Given the description of an element on the screen output the (x, y) to click on. 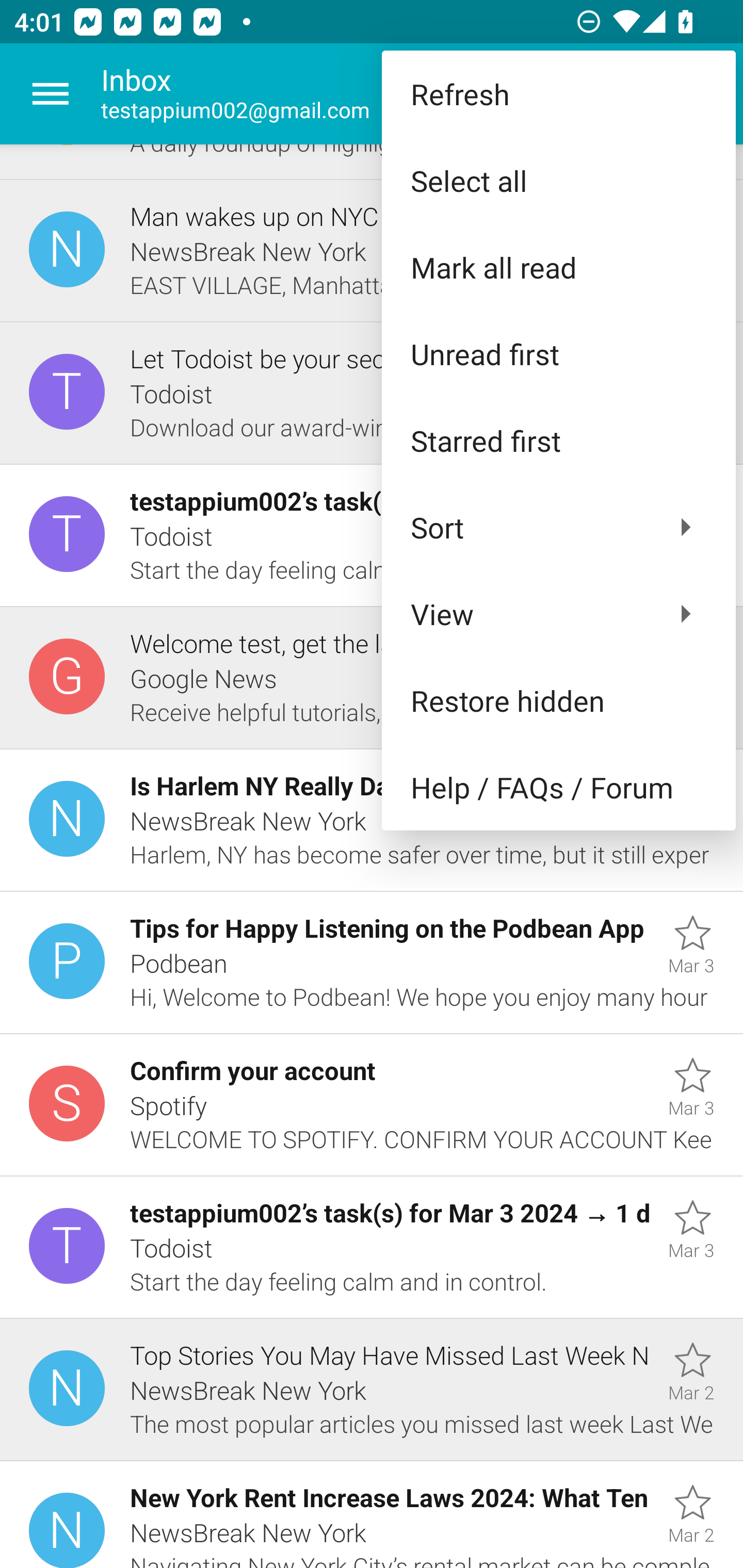
Refresh (558, 93)
Select all (558, 180)
Mark all read (558, 267)
Unread first (558, 353)
Starred first (558, 440)
Sort (558, 527)
View (558, 613)
Restore hidden (558, 699)
Help / FAQs / Forum (558, 787)
